Given the description of an element on the screen output the (x, y) to click on. 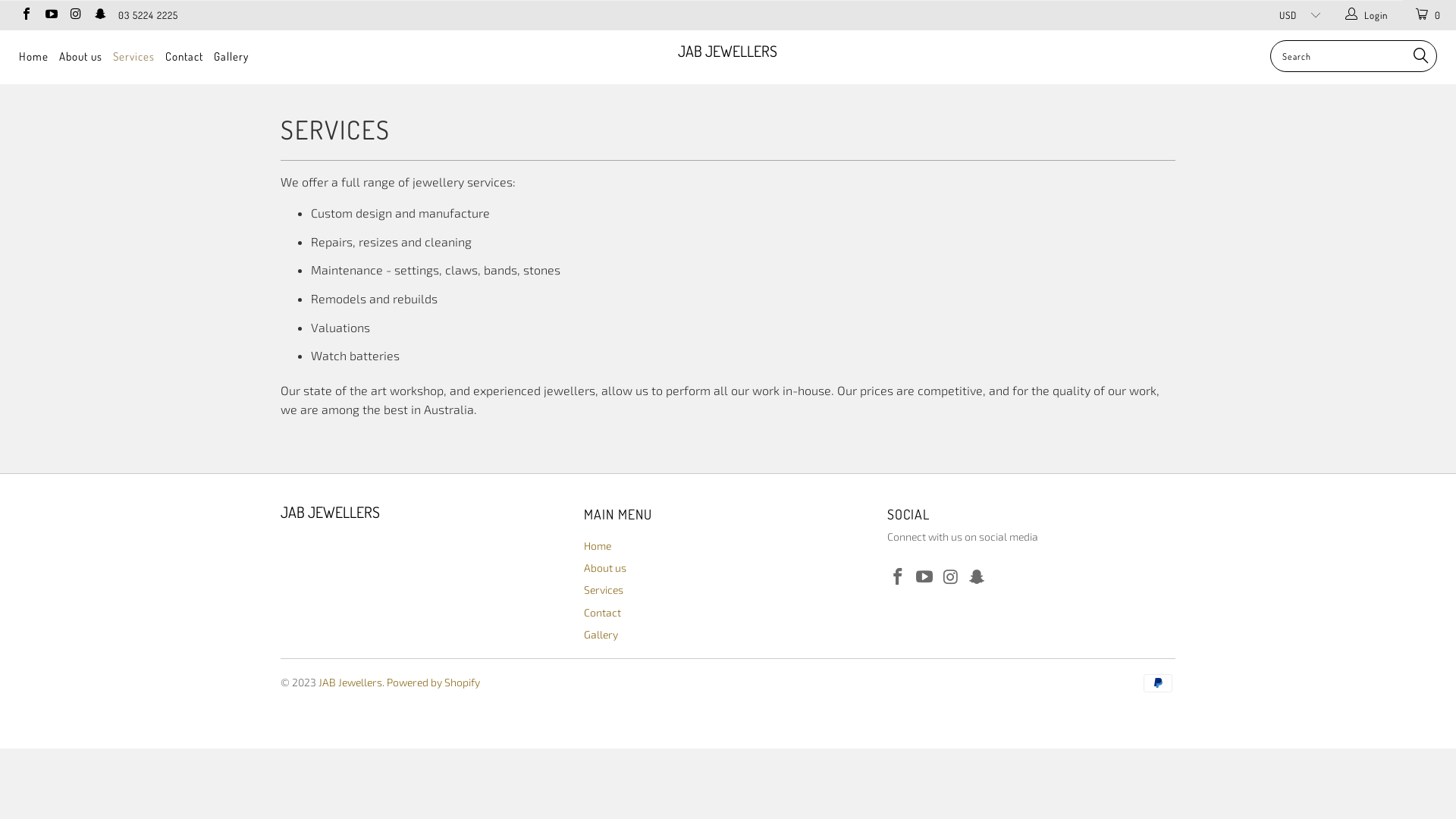
Home Element type: text (597, 545)
Home Element type: text (33, 56)
Contact Element type: text (602, 611)
JAB JEWELLERS Element type: text (727, 51)
JAB Jewellers on Instagram Element type: hover (950, 576)
Services Element type: text (603, 589)
Gallery Element type: text (600, 633)
JAB Jewellers on Snapchat Element type: hover (977, 576)
Contact Element type: text (184, 56)
JAB Jewellers on Snapchat Element type: hover (99, 15)
Gallery Element type: text (230, 56)
JAB Jewellers on Facebook Element type: hover (898, 576)
Powered by Shopify Element type: text (433, 681)
JAB Jewellers on Instagram Element type: hover (74, 15)
About us Element type: text (604, 567)
03 5224 2225 Element type: text (148, 15)
Services Element type: text (133, 56)
Login Element type: text (1366, 15)
JAB Jewellers Element type: text (350, 681)
JAB Jewellers on Facebook Element type: hover (25, 15)
JAB Jewellers on YouTube Element type: hover (924, 576)
About us Element type: text (80, 56)
JAB Jewellers on YouTube Element type: hover (49, 15)
